Given the description of an element on the screen output the (x, y) to click on. 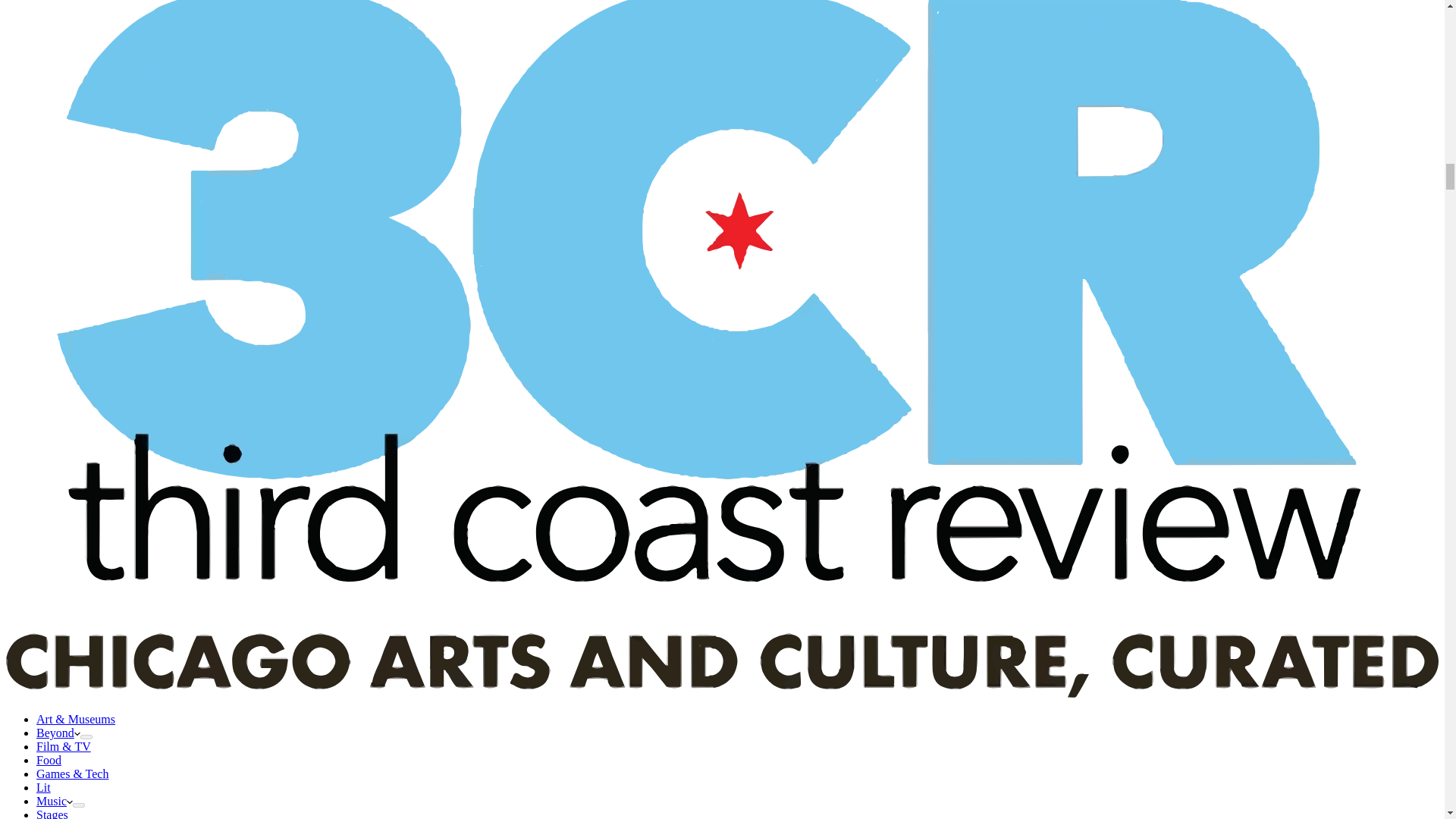
Stages (52, 813)
Music (54, 800)
Lit (43, 787)
Food (48, 759)
Beyond (58, 732)
